Given the description of an element on the screen output the (x, y) to click on. 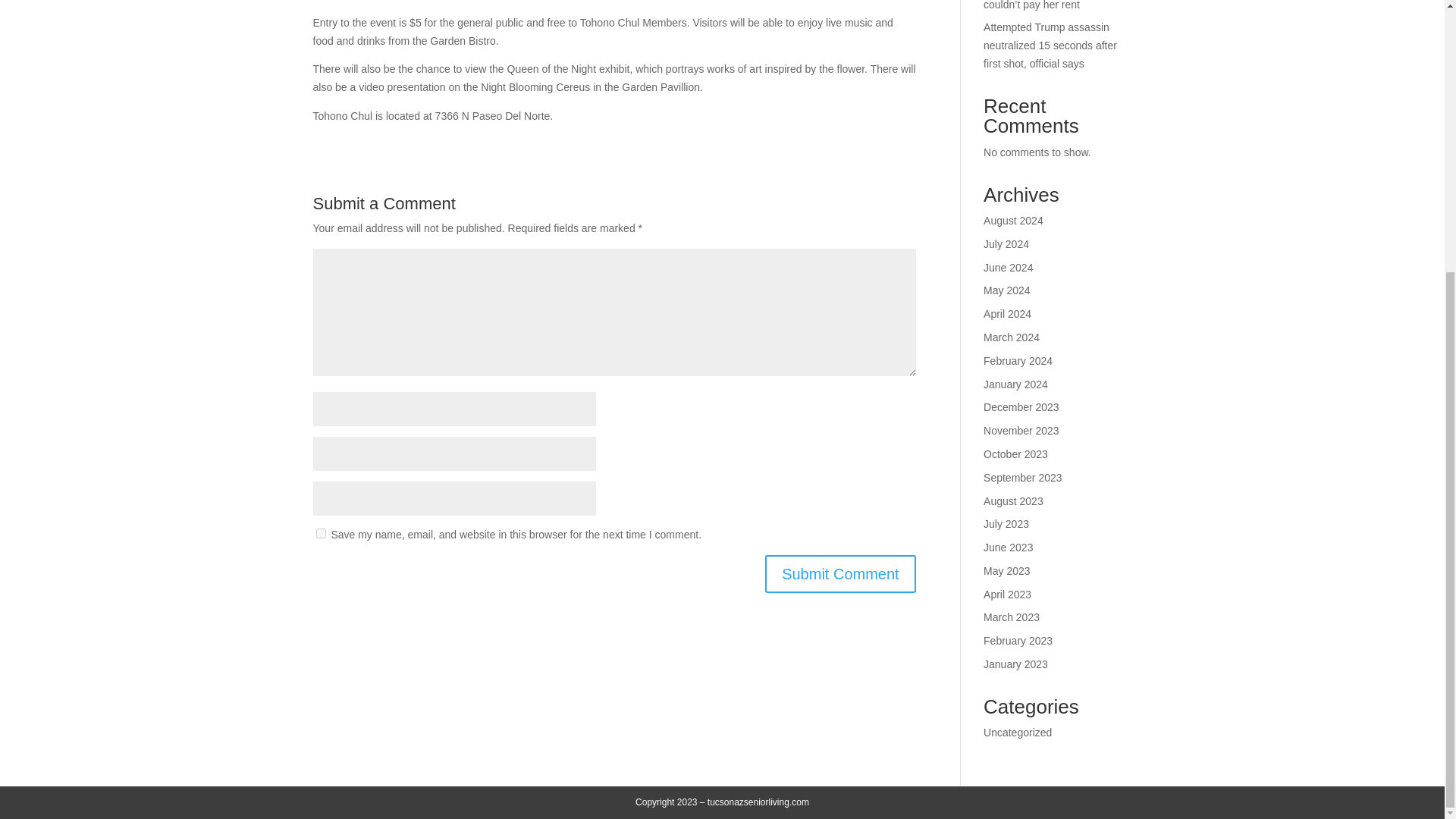
June 2024 (1008, 267)
March 2024 (1011, 337)
Submit Comment (840, 573)
February 2023 (1018, 640)
January 2023 (1016, 664)
July 2023 (1006, 523)
May 2024 (1006, 290)
May 2023 (1006, 571)
June 2023 (1008, 547)
January 2024 (1016, 384)
April 2023 (1007, 594)
yes (319, 533)
March 2023 (1011, 616)
July 2024 (1006, 244)
